Given the description of an element on the screen output the (x, y) to click on. 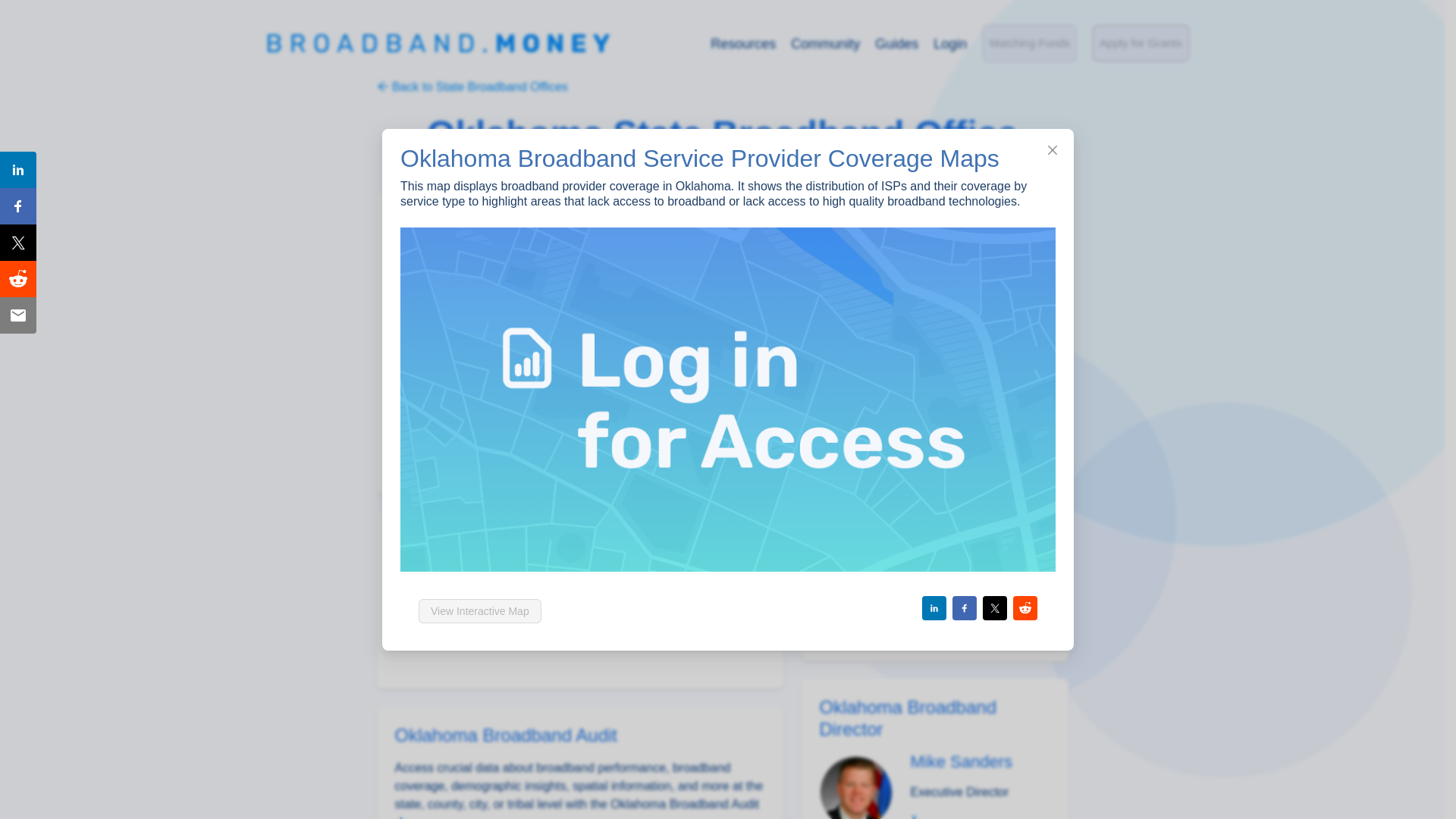
Guides (896, 43)
Back to State Broadband Offices (471, 86)
Matching Funds (1029, 43)
Login (949, 43)
Twitter (861, 414)
How can Broadband.money help? (933, 620)
Draft Digital Equity Plan (907, 353)
Draft BEAD Initial Proposal Vol. 2 (933, 323)
Draft BEAD Initial Proposal Vol. 1 (933, 293)
Facebook (933, 555)
Broadband Office Website (869, 444)
Apply for Grants (913, 262)
Apply for Grants (1140, 43)
